Given the description of an element on the screen output the (x, y) to click on. 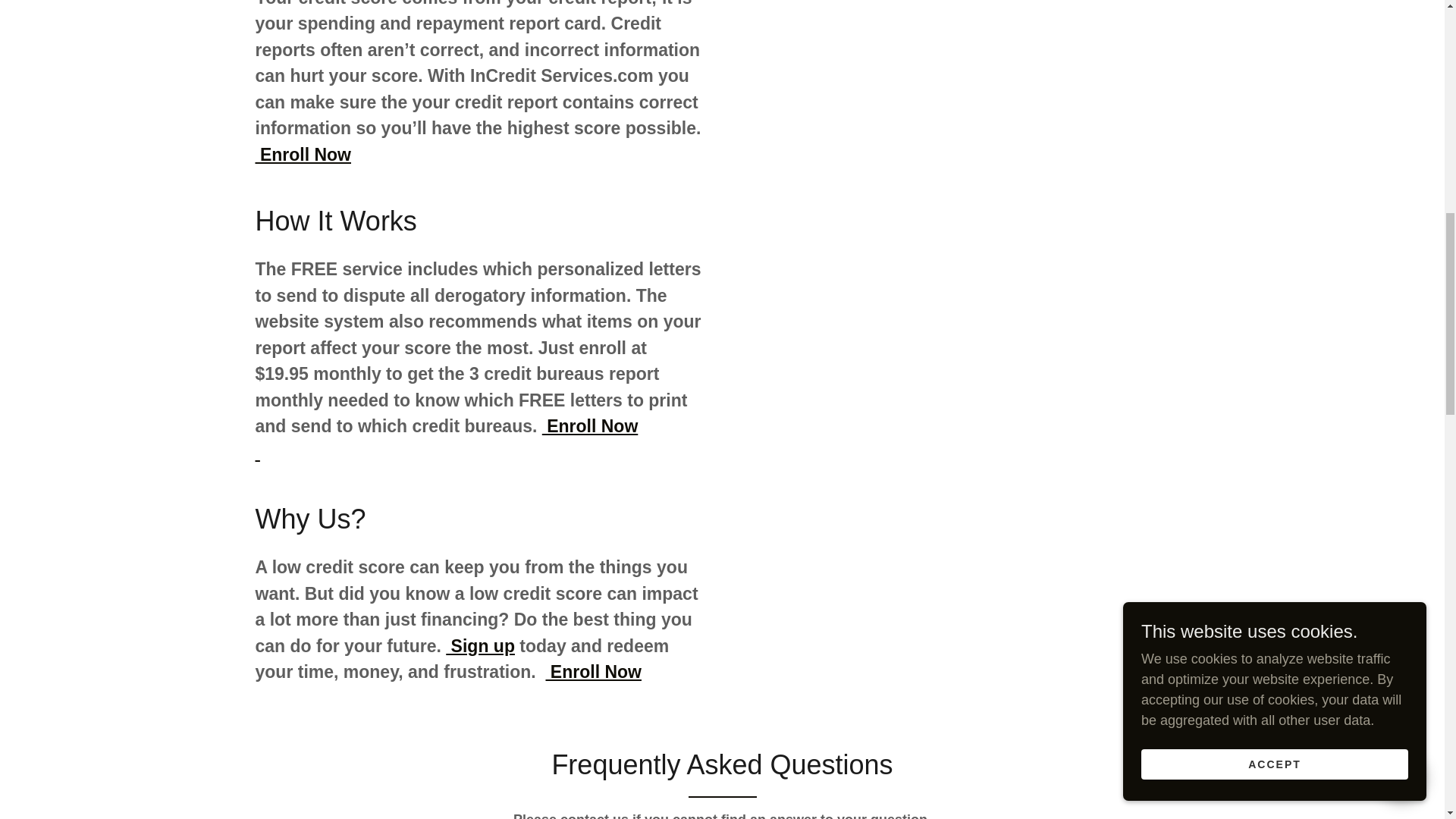
 Sign up (480, 646)
 Enroll Now (593, 671)
 Enroll Now   (445, 439)
 Enroll Now (302, 154)
